Given the description of an element on the screen output the (x, y) to click on. 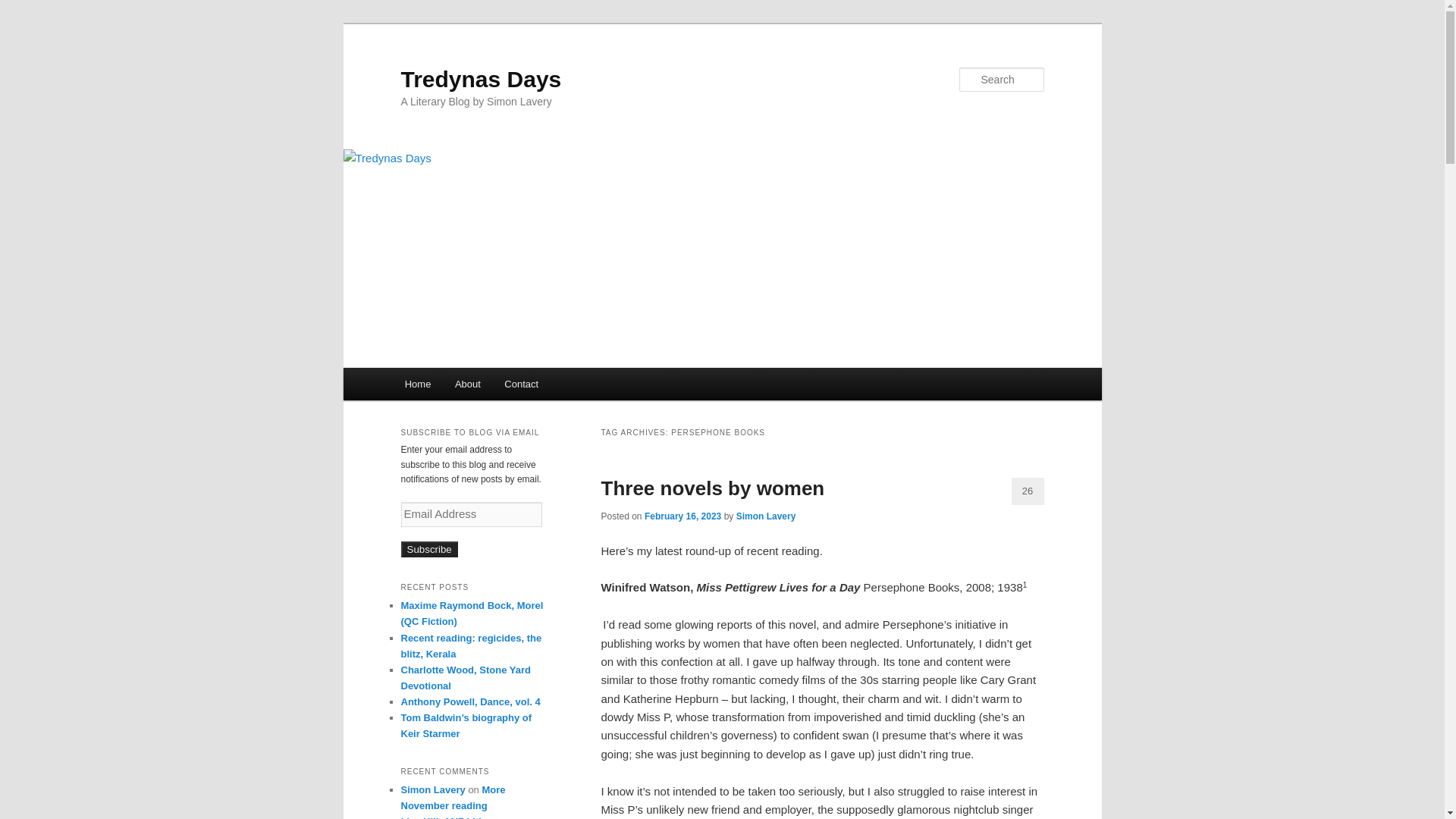
26 (1027, 491)
About (467, 383)
February 16, 2023 (682, 516)
Tredynas Days (480, 78)
Contact (521, 383)
Simon Lavery (766, 516)
View all posts by Simon Lavery (766, 516)
Search (24, 8)
Home (417, 383)
